Given the description of an element on the screen output the (x, y) to click on. 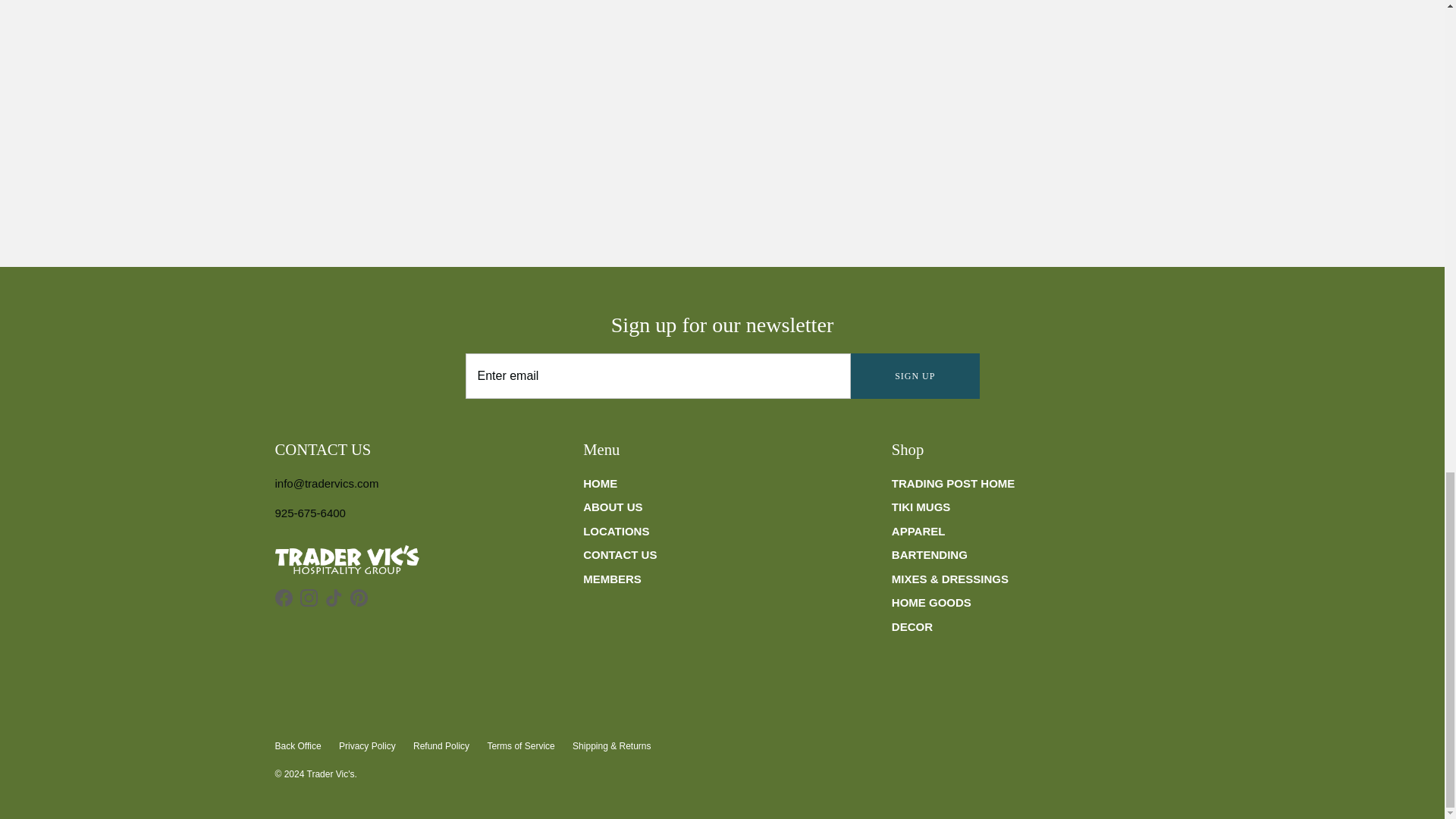
Trader Vic's on Pinterest (359, 597)
Trader Vic's on TikTok (333, 597)
Trader Vic's on Instagram (308, 597)
Trader Vic's on Facebook (283, 597)
